Given the description of an element on the screen output the (x, y) to click on. 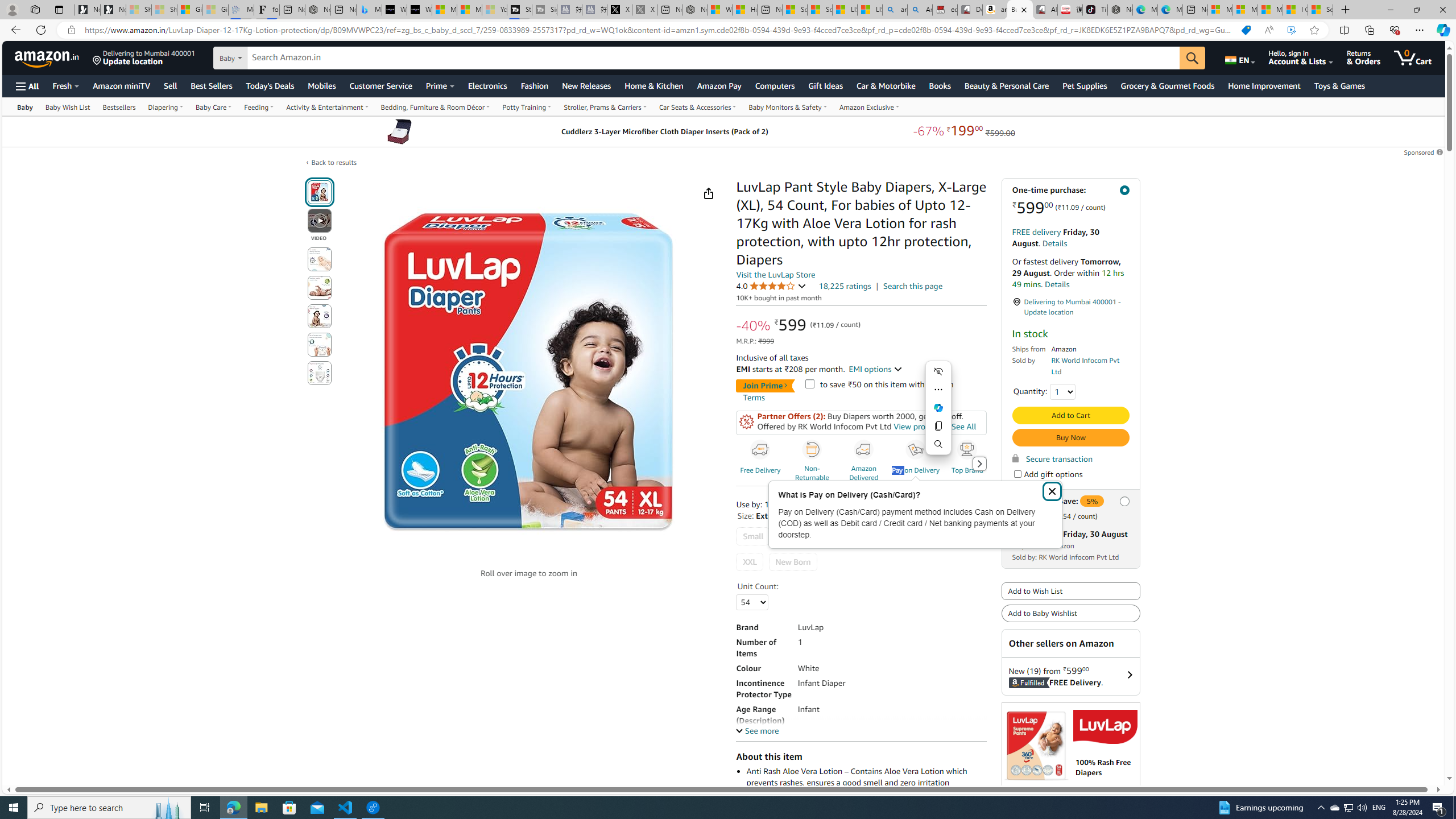
Huge shark washes ashore at New York City beach | Watch (744, 9)
Nordace - Best Sellers (1119, 9)
You have the best price! (1245, 29)
Ask Copilot (938, 407)
Mini menu on text selection (938, 414)
